Given the description of an element on the screen output the (x, y) to click on. 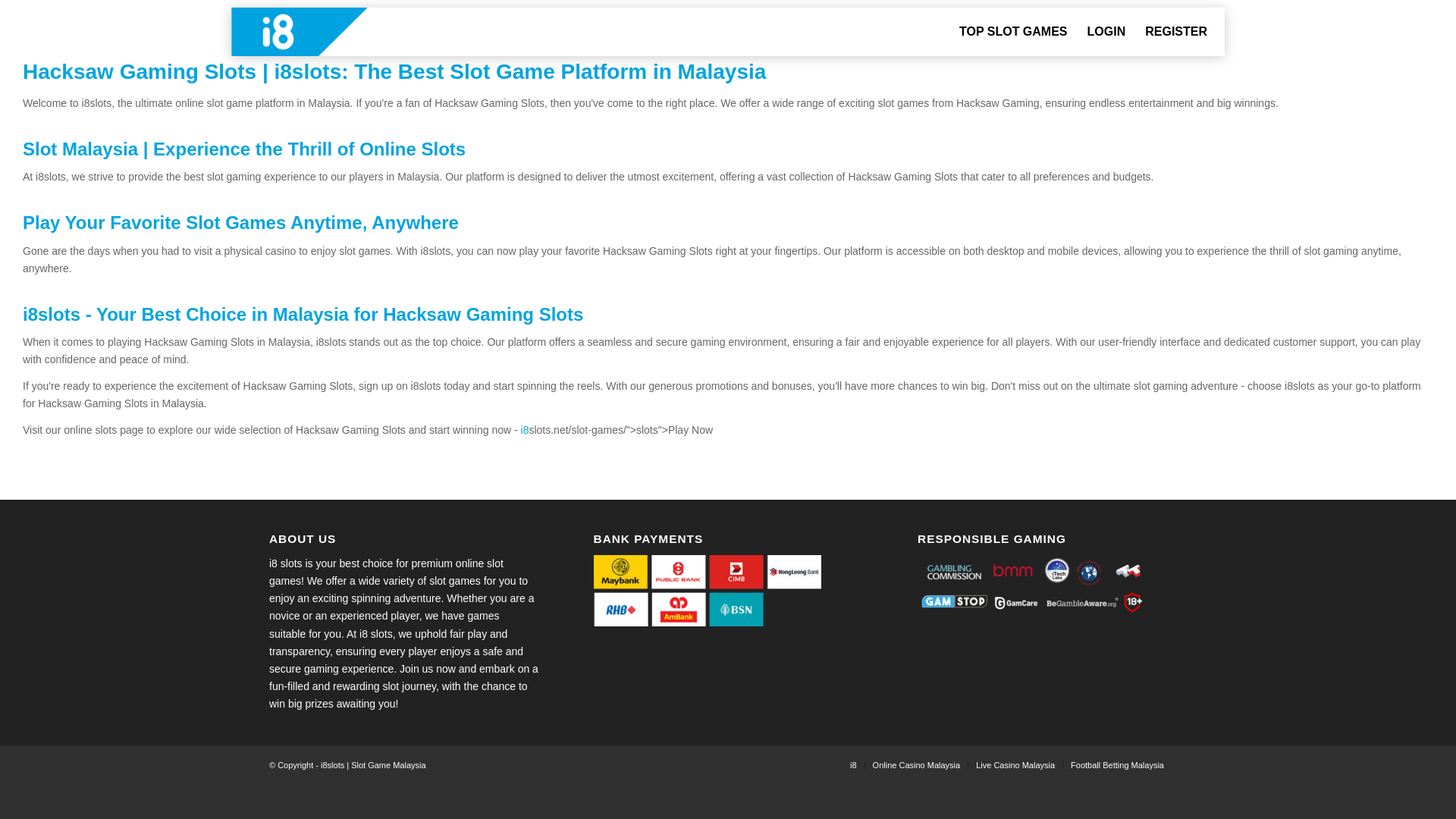
Online Casino Malaysia (916, 764)
Slot Malaysia (80, 148)
Football Betting Malaysia (1116, 764)
TOP SLOT GAMES (1013, 31)
LOGIN (1106, 31)
REGISTER (1176, 31)
Live Casino Malaysia (1014, 764)
